Given the description of an element on the screen output the (x, y) to click on. 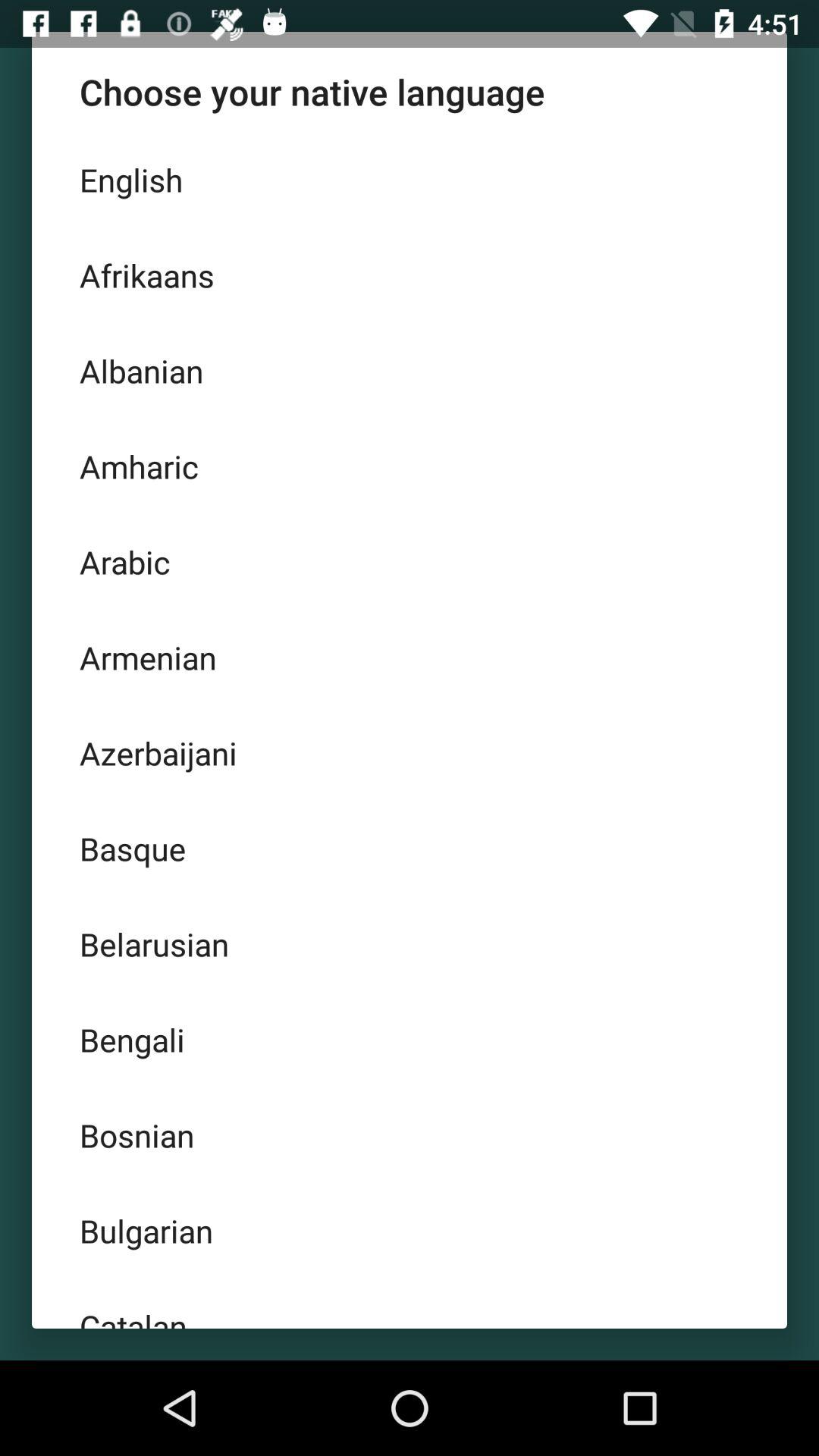
swipe until the bengali (409, 1039)
